Given the description of an element on the screen output the (x, y) to click on. 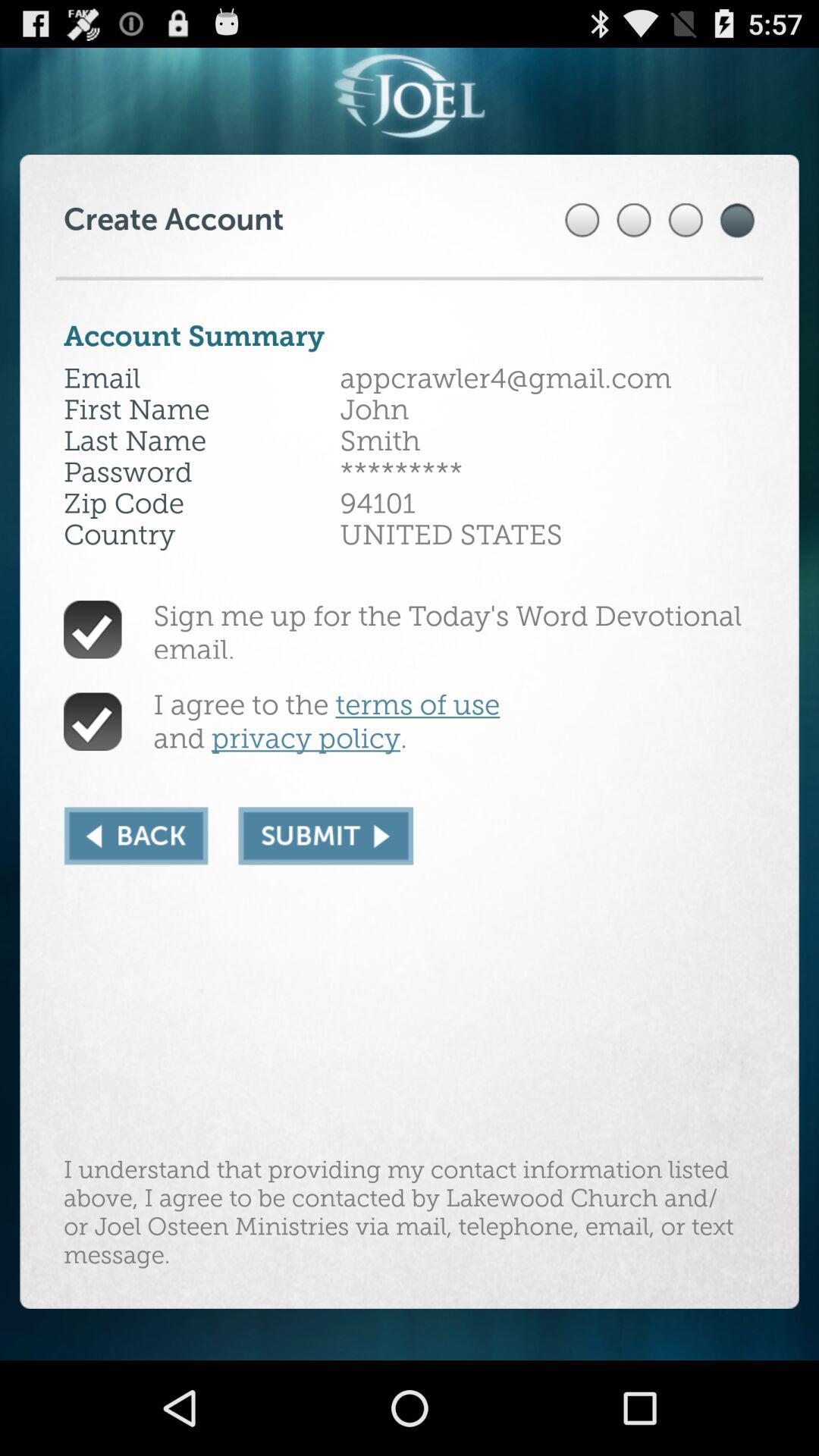
turn on the icon below the i agree to app (135, 836)
